Given the description of an element on the screen output the (x, y) to click on. 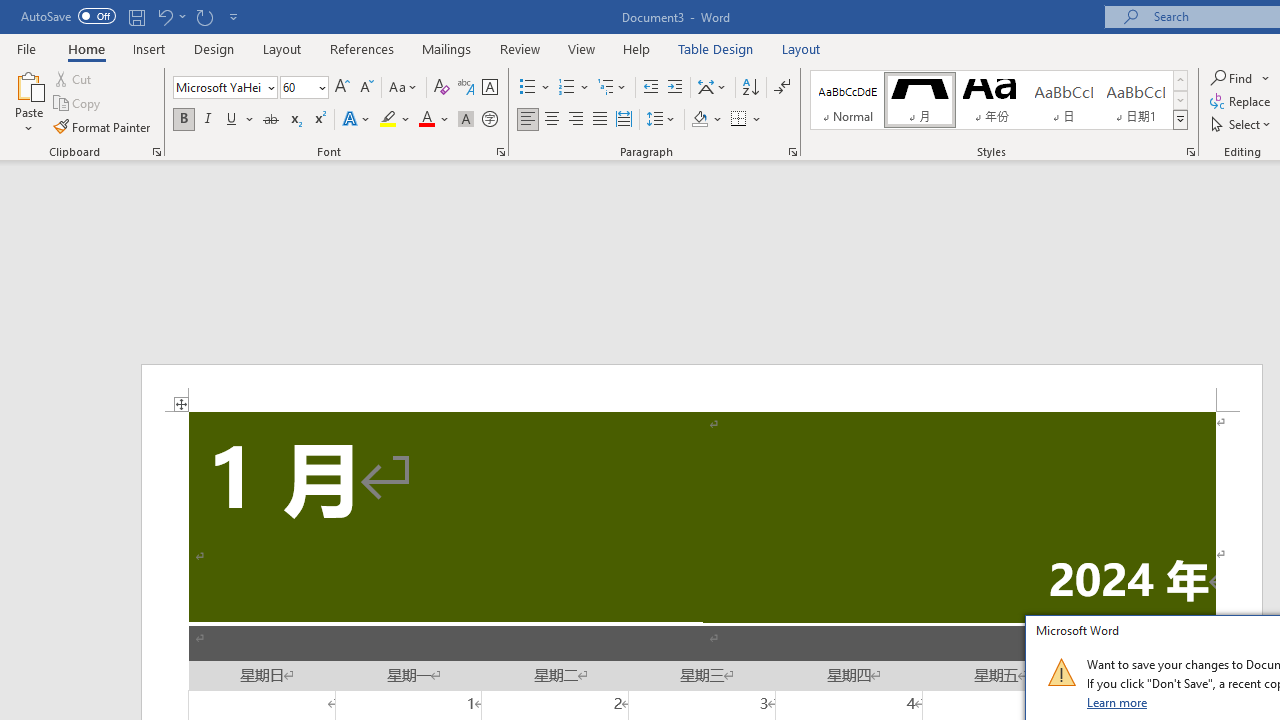
Repeat Style (204, 15)
